Given the description of an element on the screen output the (x, y) to click on. 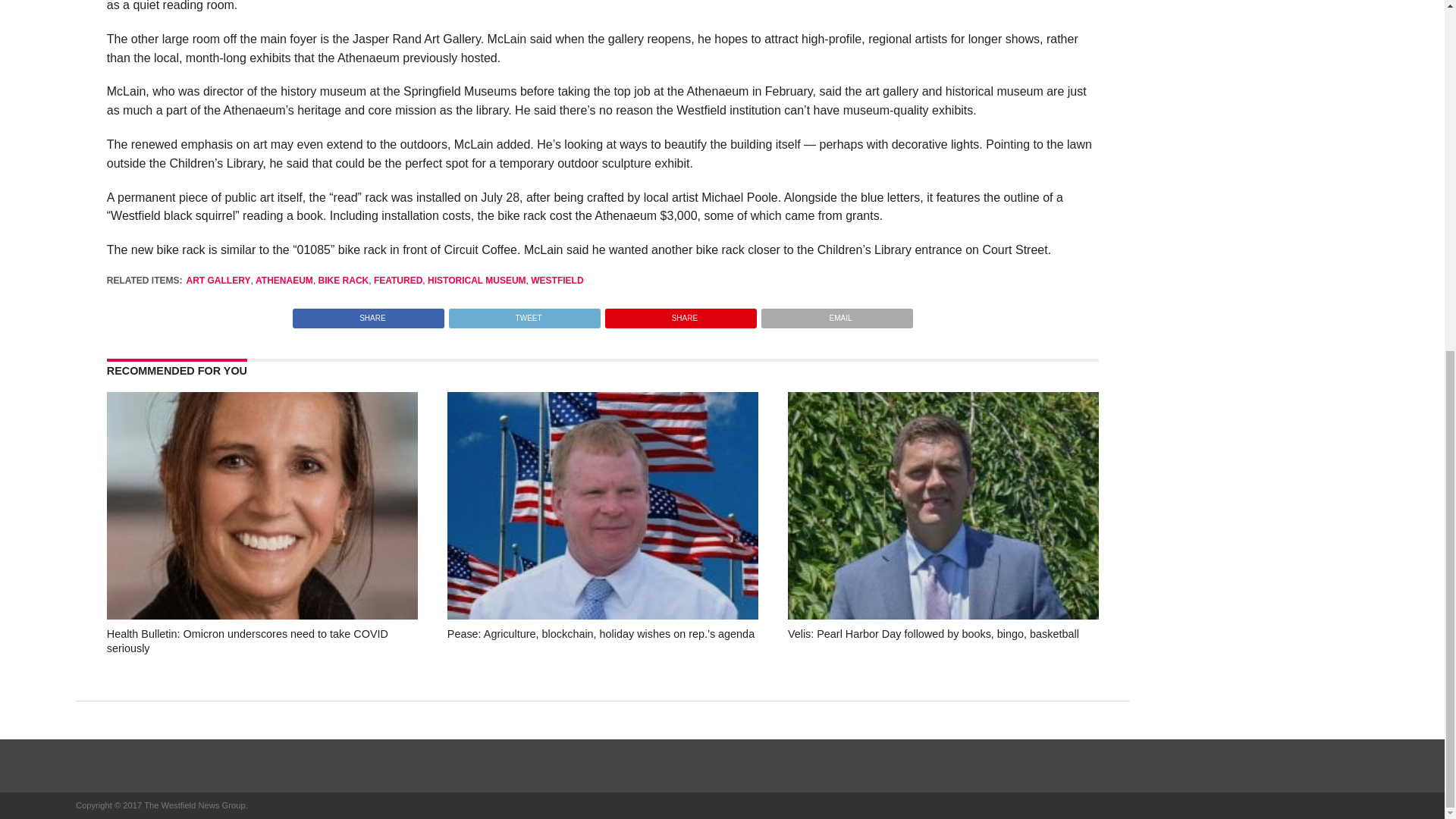
Pin This Post (680, 314)
Velis: Pearl Harbor Day followed by books, bingo, basketball (943, 615)
Share on Facebook (368, 314)
Tweet This Post (523, 314)
